Given the description of an element on the screen output the (x, y) to click on. 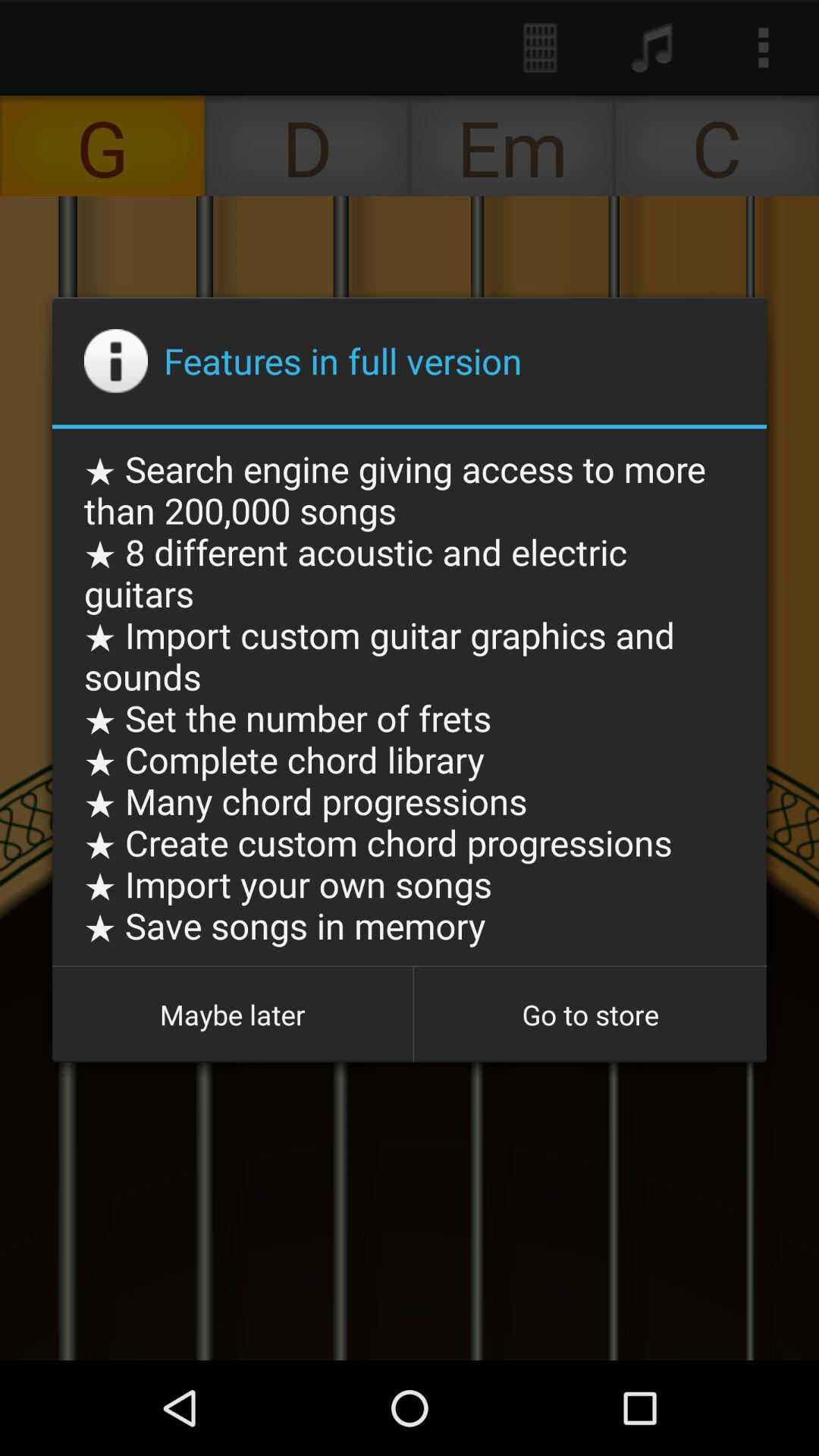
turn off icon to the right of the maybe later (590, 1014)
